Given the description of an element on the screen output the (x, y) to click on. 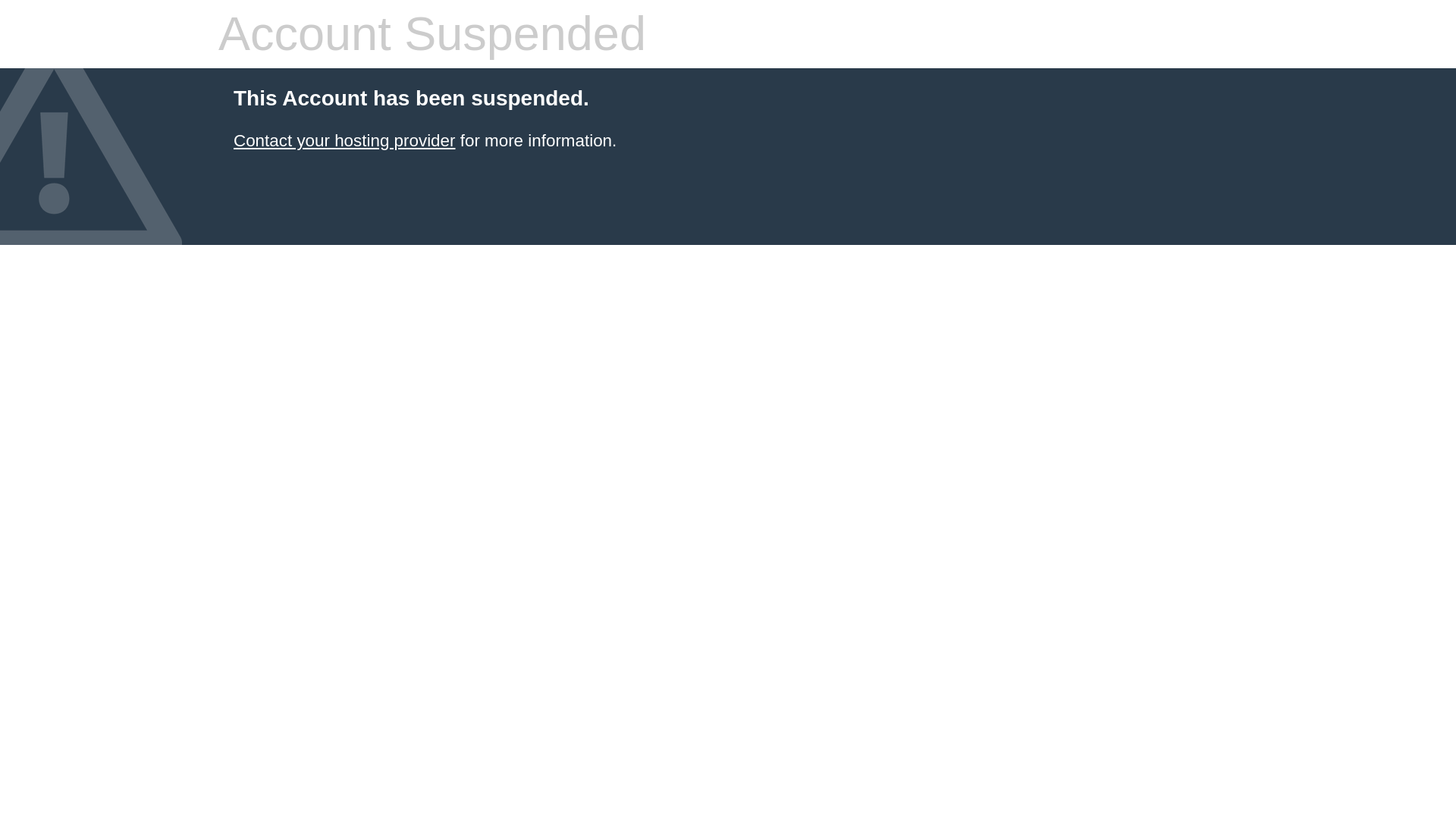
Contact your hosting provider (343, 140)
